Given the description of an element on the screen output the (x, y) to click on. 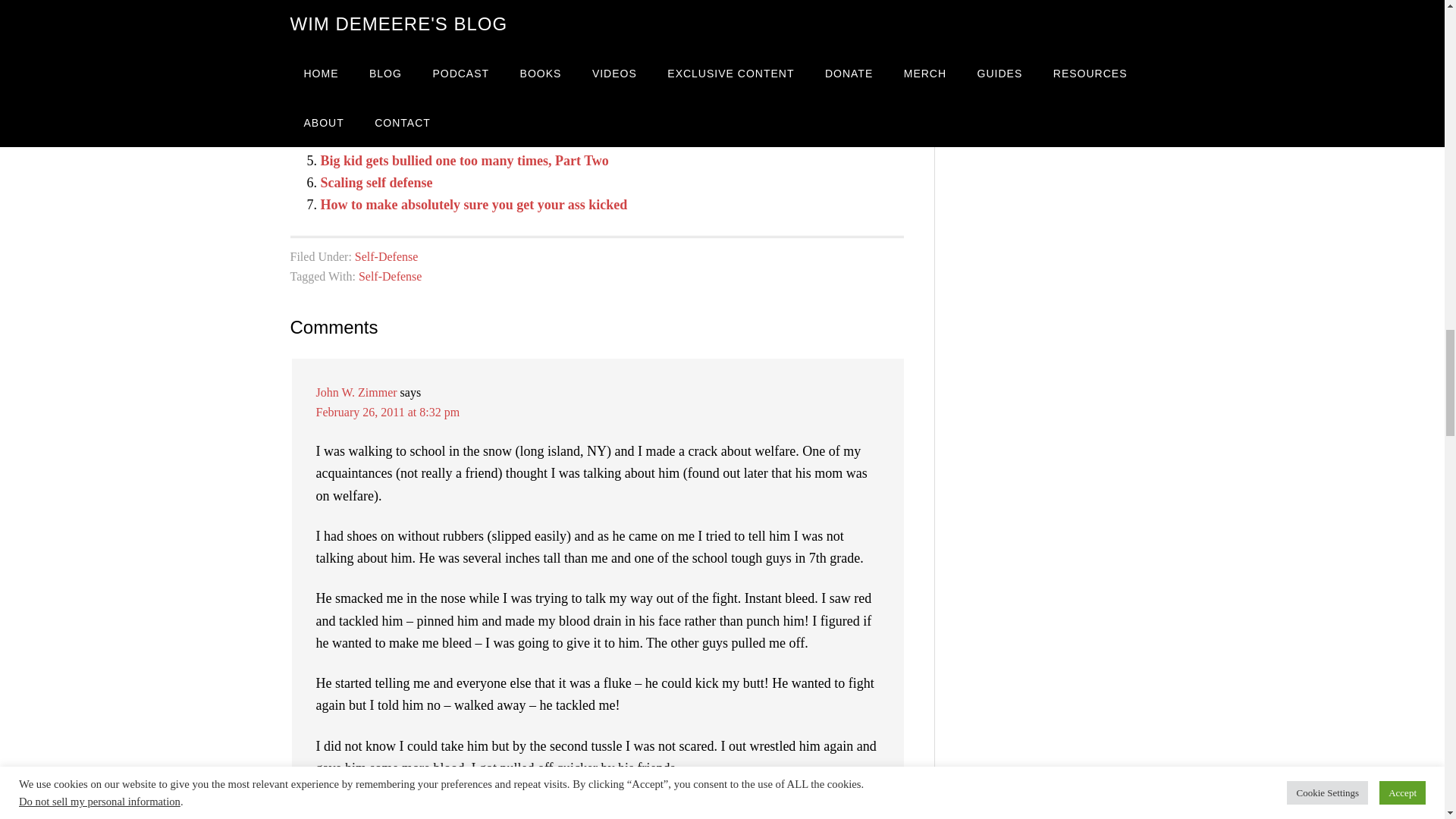
Guest Post: Mark Mireles on MMA and self defense (471, 137)
MMA against multiple opponents, Part Three (452, 115)
MMA sucks, traditional martial arts suck more, Part Two (488, 70)
Guest Post: Mark Mireles on MMA and self defense (471, 137)
John W. Zimmer (355, 391)
Big kid gets bullied one too many times, Part Two (464, 160)
Scaling self defense (376, 182)
MMA sucks, traditional martial arts suck more, Part Two (488, 70)
MMA against multiple opponents, Part Three (452, 115)
How to make absolutely sure you get your ass kicked (473, 204)
